Given the description of an element on the screen output the (x, y) to click on. 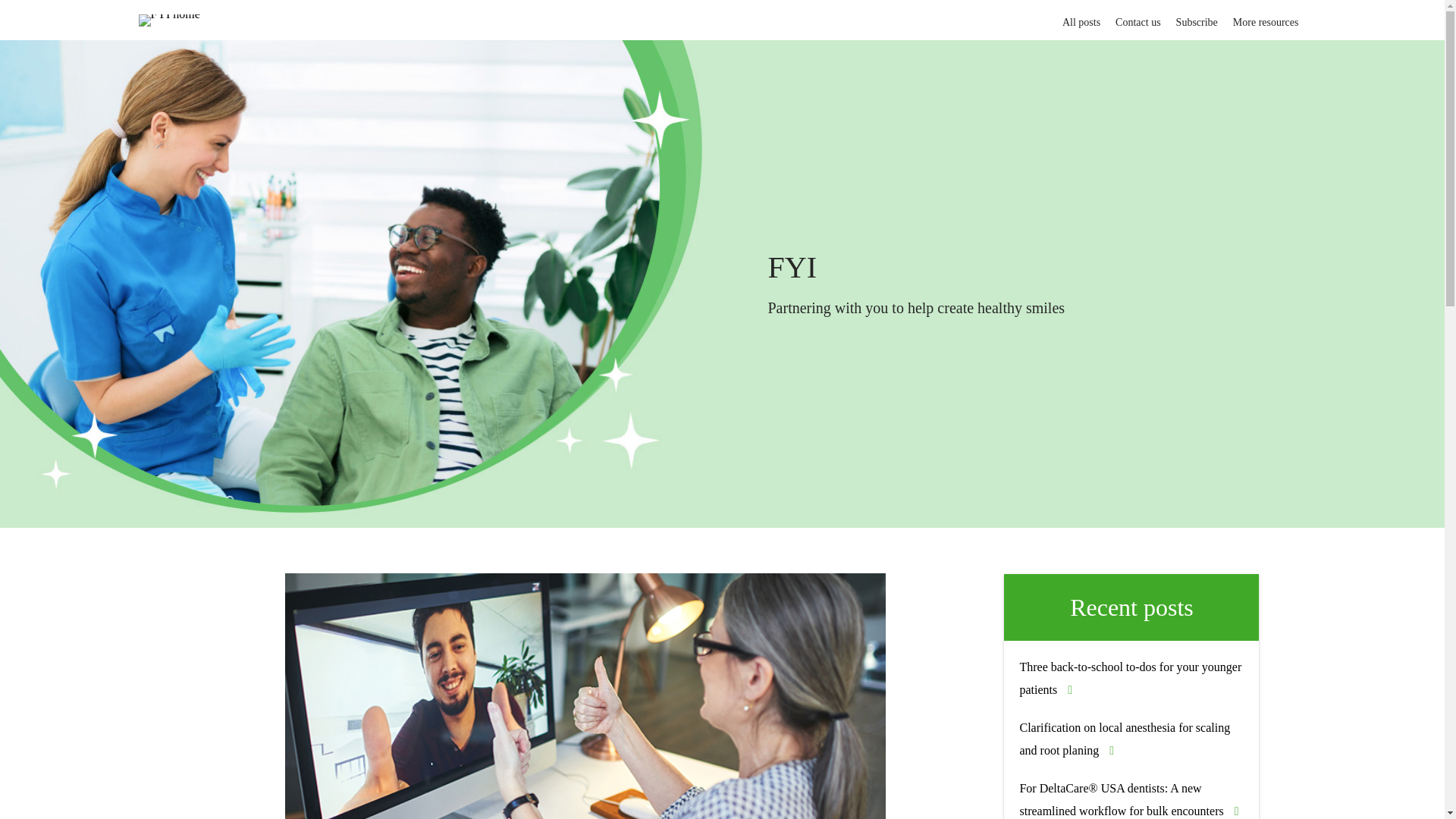
All posts (1080, 18)
Three back-to-school to-dos for your younger patients (1130, 678)
Subscribe (1196, 18)
Contact us (1138, 18)
More resources (1265, 18)
